Given the description of an element on the screen output the (x, y) to click on. 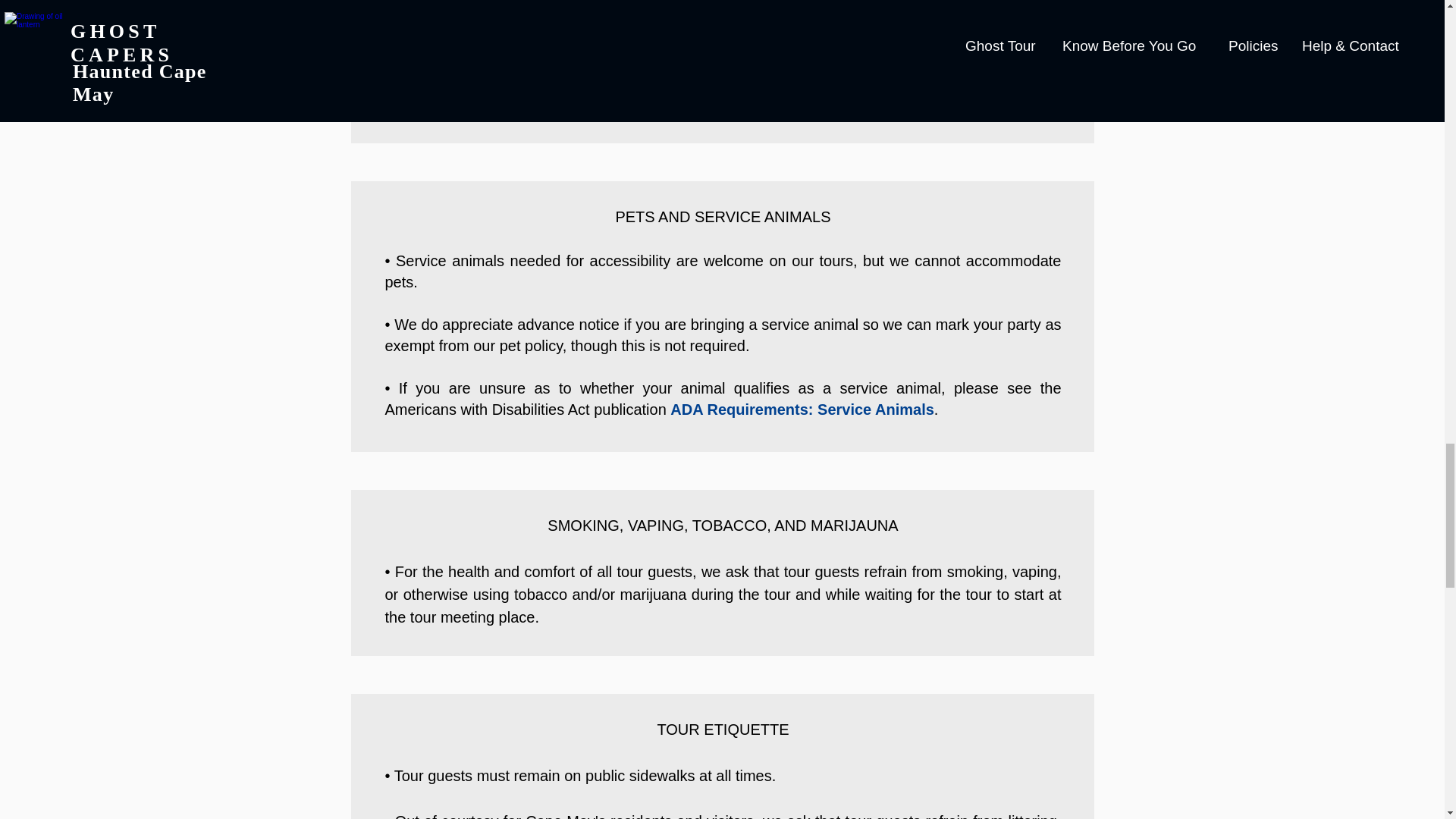
ADA Requirements: Service Animals (801, 409)
